Given the description of an element on the screen output the (x, y) to click on. 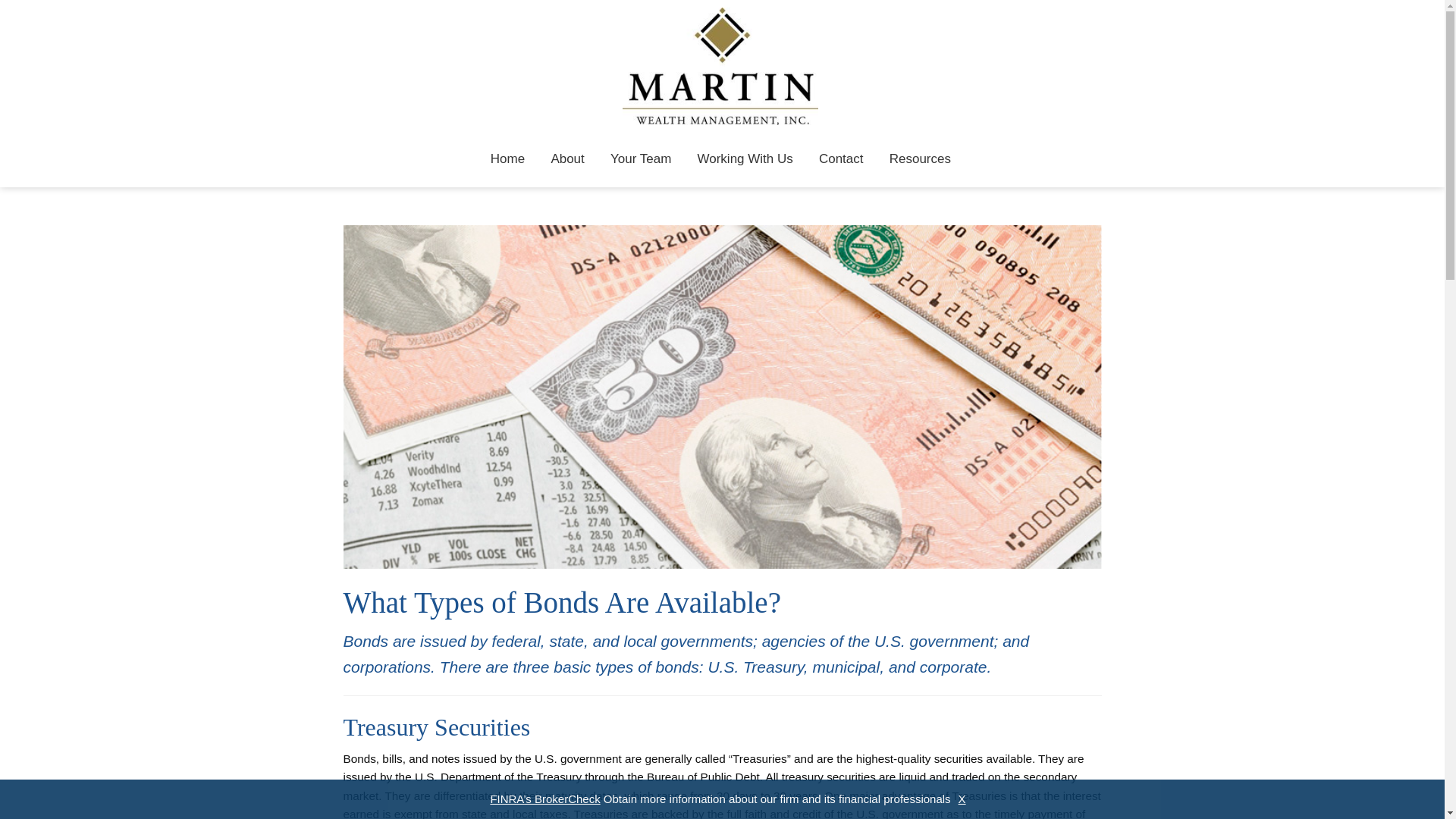
Home (507, 159)
Your Team (640, 159)
Working With Us (744, 159)
Contact (841, 159)
About (566, 159)
Resources (919, 159)
